Given the description of an element on the screen output the (x, y) to click on. 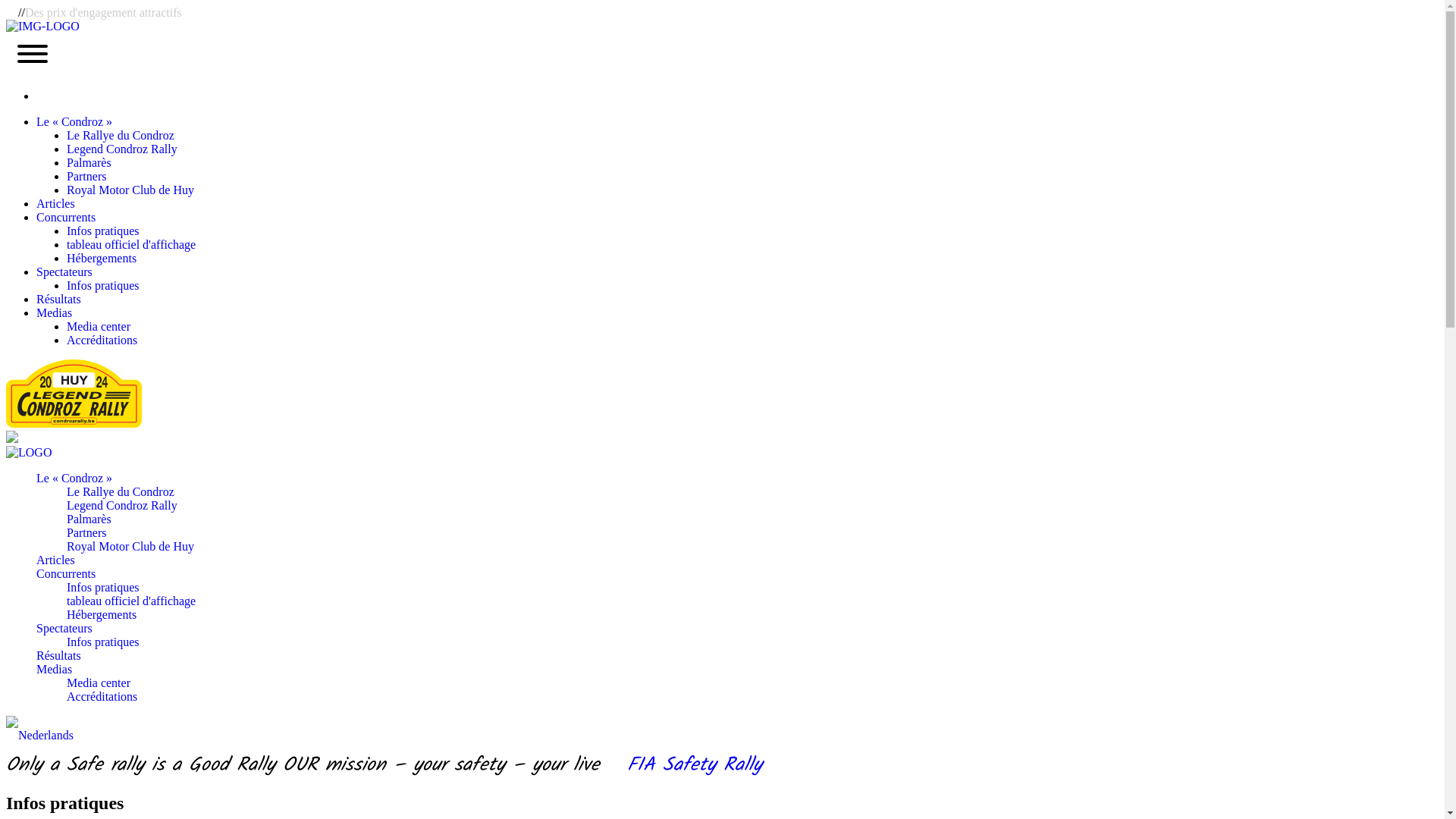
Infos pratiques Element type: text (102, 230)
Articles Element type: text (55, 559)
Partners Element type: text (86, 532)
Medias Element type: text (54, 312)
Spectateurs Element type: text (64, 271)
Legend Condroz Rally Element type: text (121, 504)
Le Rallye du Condroz Element type: text (120, 491)
Concurrents Element type: text (65, 216)
Concurrents Element type: text (65, 573)
tableau officiel d'affichage Element type: text (130, 600)
Royal Motor Club de Huy Element type: text (130, 189)
Partners Element type: text (86, 175)
Infos pratiques Element type: text (102, 586)
Infos pratiques Element type: text (102, 641)
Media center Element type: text (98, 326)
tableau officiel d'affichage Element type: text (130, 244)
Medias Element type: text (54, 668)
FIA Safety Rally Element type: text (684, 765)
Des prix d'engagement attractifs Element type: text (103, 12)
Media center Element type: text (98, 682)
Royal Motor Club de Huy Element type: text (130, 545)
Le Rallye du Condroz Element type: text (120, 134)
Infos pratiques Element type: text (102, 285)
Legend Condroz Rally Element type: text (121, 148)
Articles Element type: text (55, 203)
Spectateurs Element type: text (64, 627)
